Given the description of an element on the screen output the (x, y) to click on. 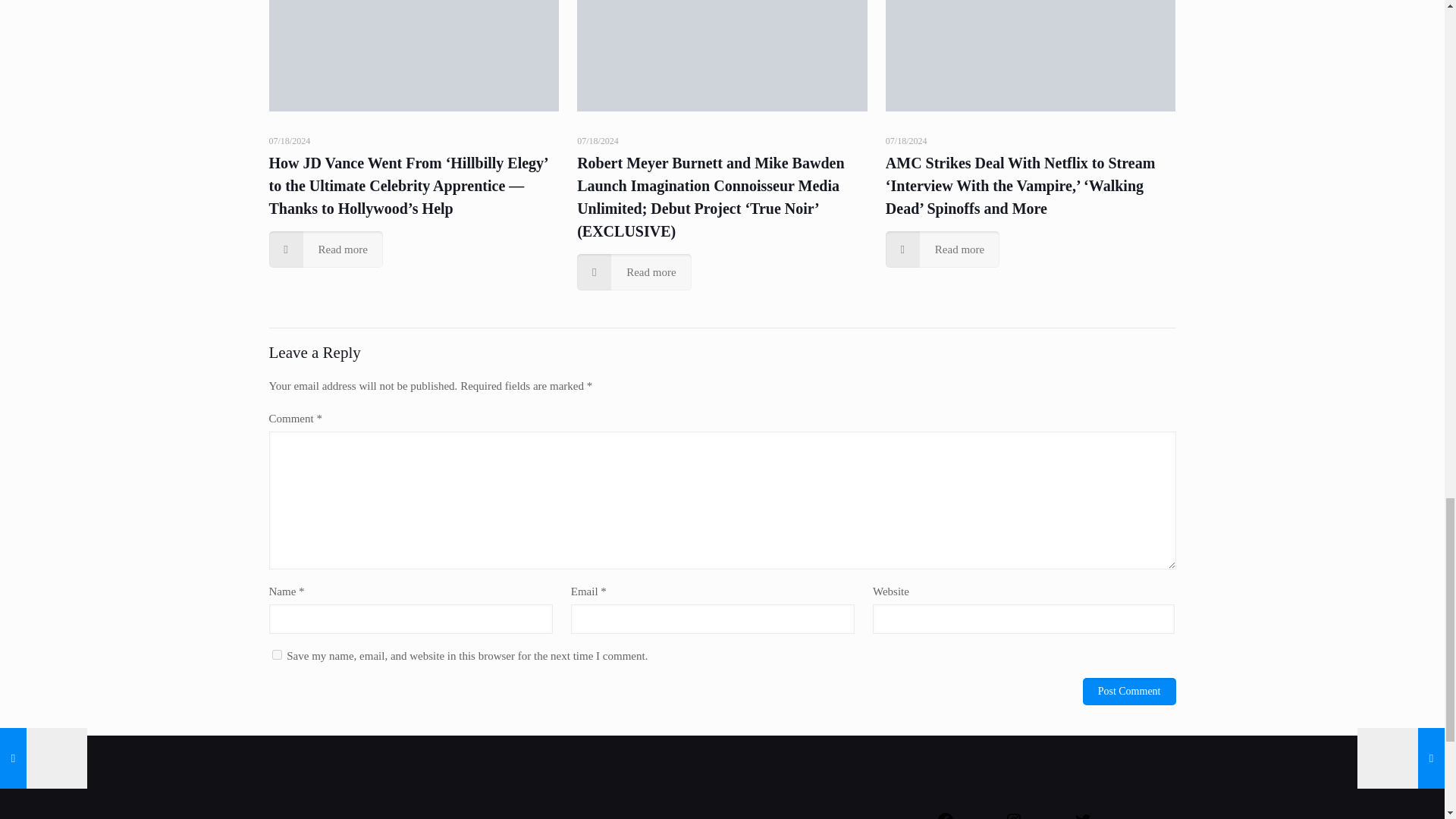
Post Comment (1129, 691)
yes (275, 655)
